Given the description of an element on the screen output the (x, y) to click on. 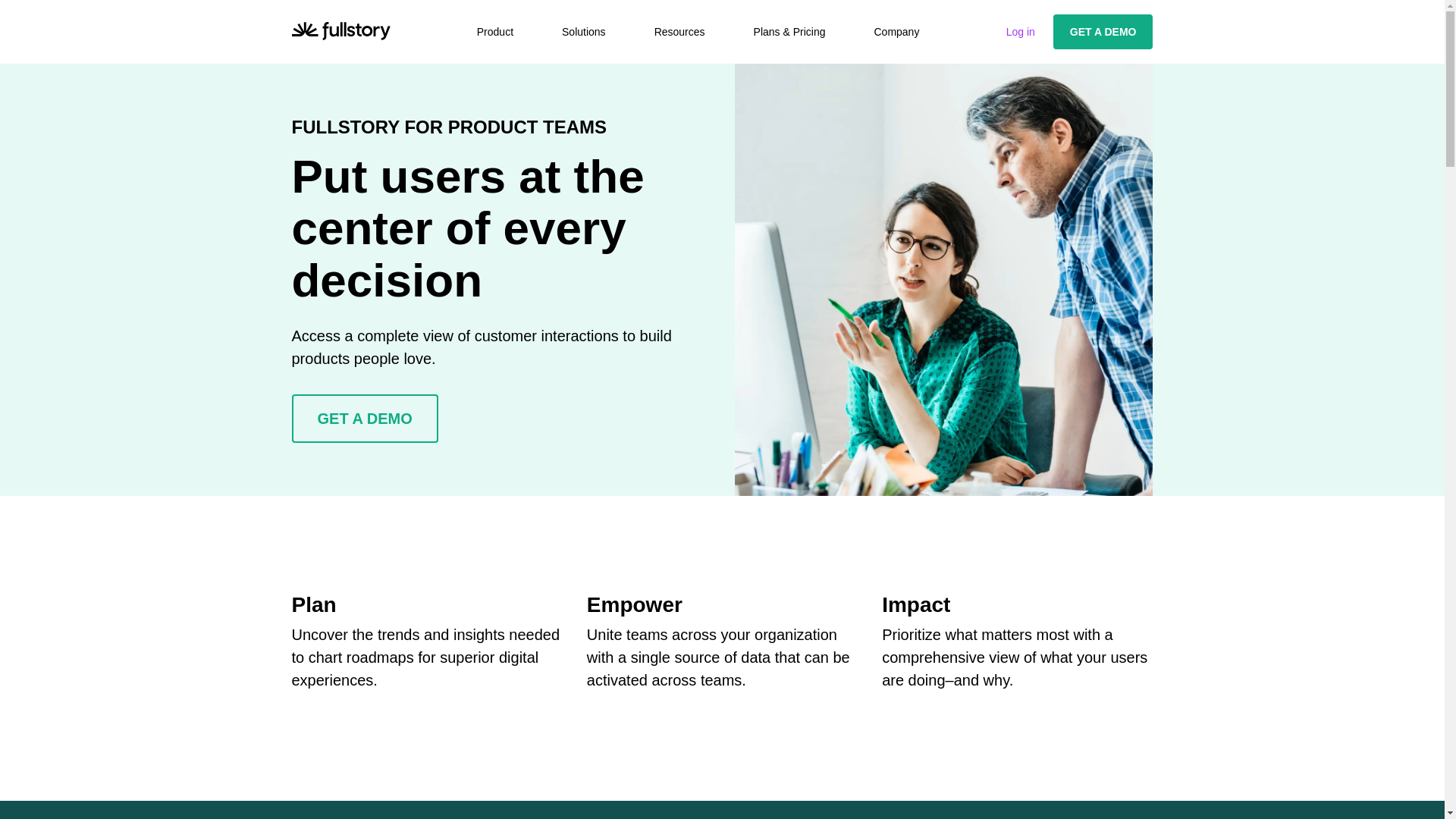
Solutions (583, 31)
Product (495, 31)
Company (895, 31)
Log in (1020, 31)
Resources (678, 31)
Resources (678, 31)
Company (895, 31)
Product (495, 31)
